Given the description of an element on the screen output the (x, y) to click on. 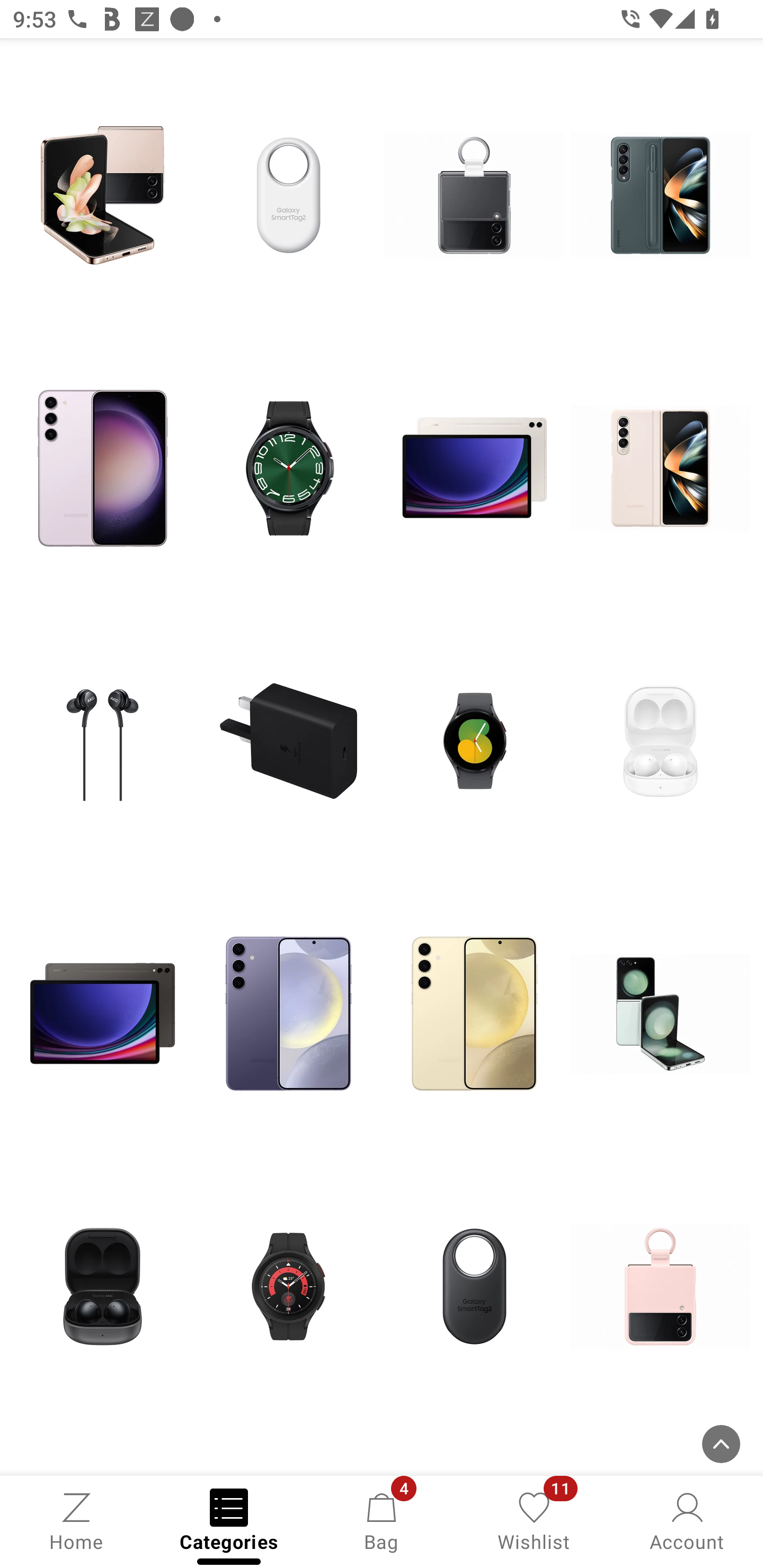
Home (76, 1519)
Bag, 4 new notifications Bag (381, 1519)
Wishlist, 11 new notifications Wishlist (533, 1519)
Account (686, 1519)
